Given the description of an element on the screen output the (x, y) to click on. 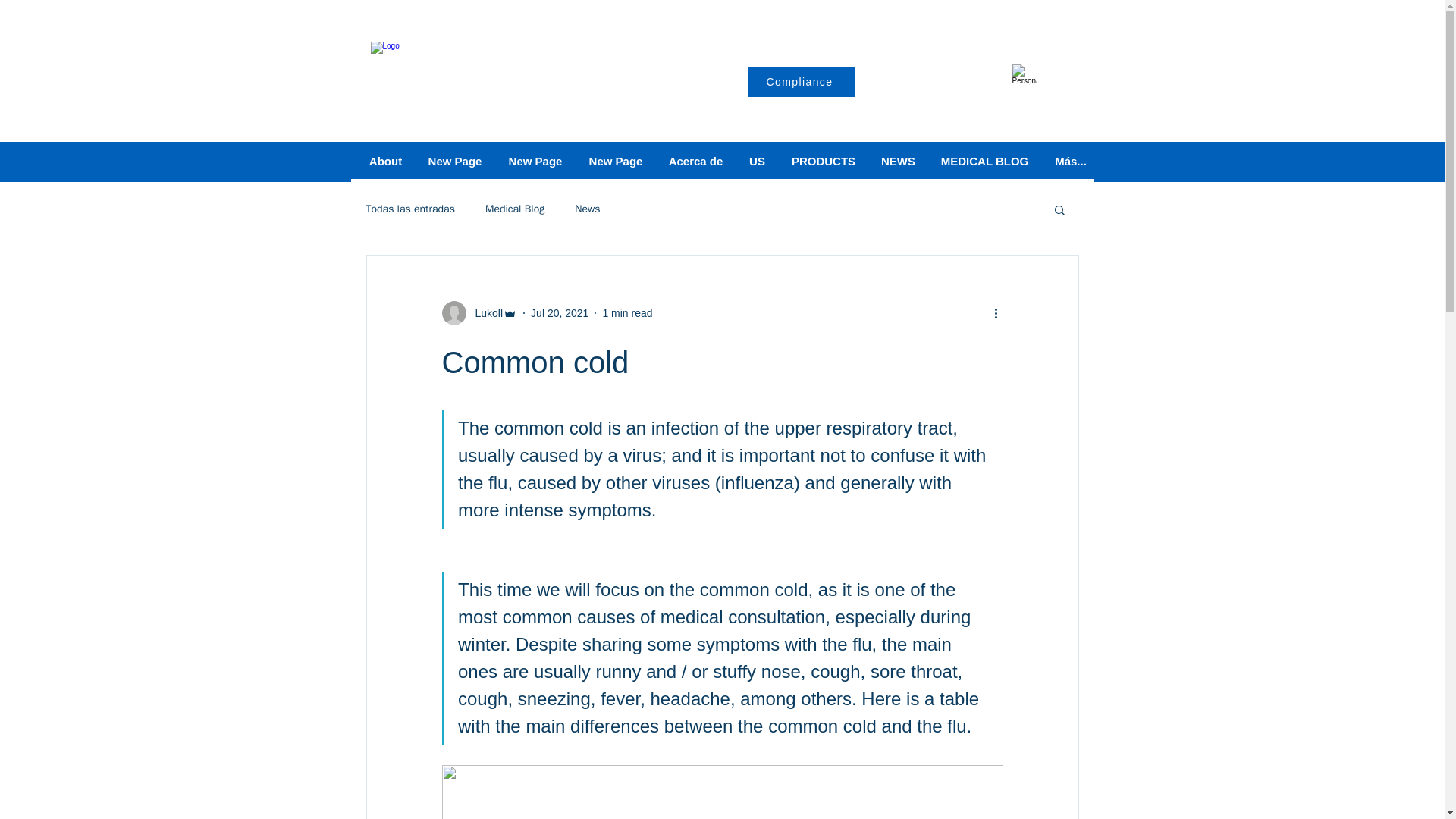
Acerca de (695, 161)
Lukoll (478, 313)
New Page (454, 161)
About (384, 161)
1 min read (627, 312)
New Page (535, 161)
News (587, 209)
New Page (615, 161)
Medical Blog (514, 209)
Jul 20, 2021 (559, 312)
Lukoll (483, 312)
Compliance (802, 81)
Todas las entradas (409, 209)
